Given the description of an element on the screen output the (x, y) to click on. 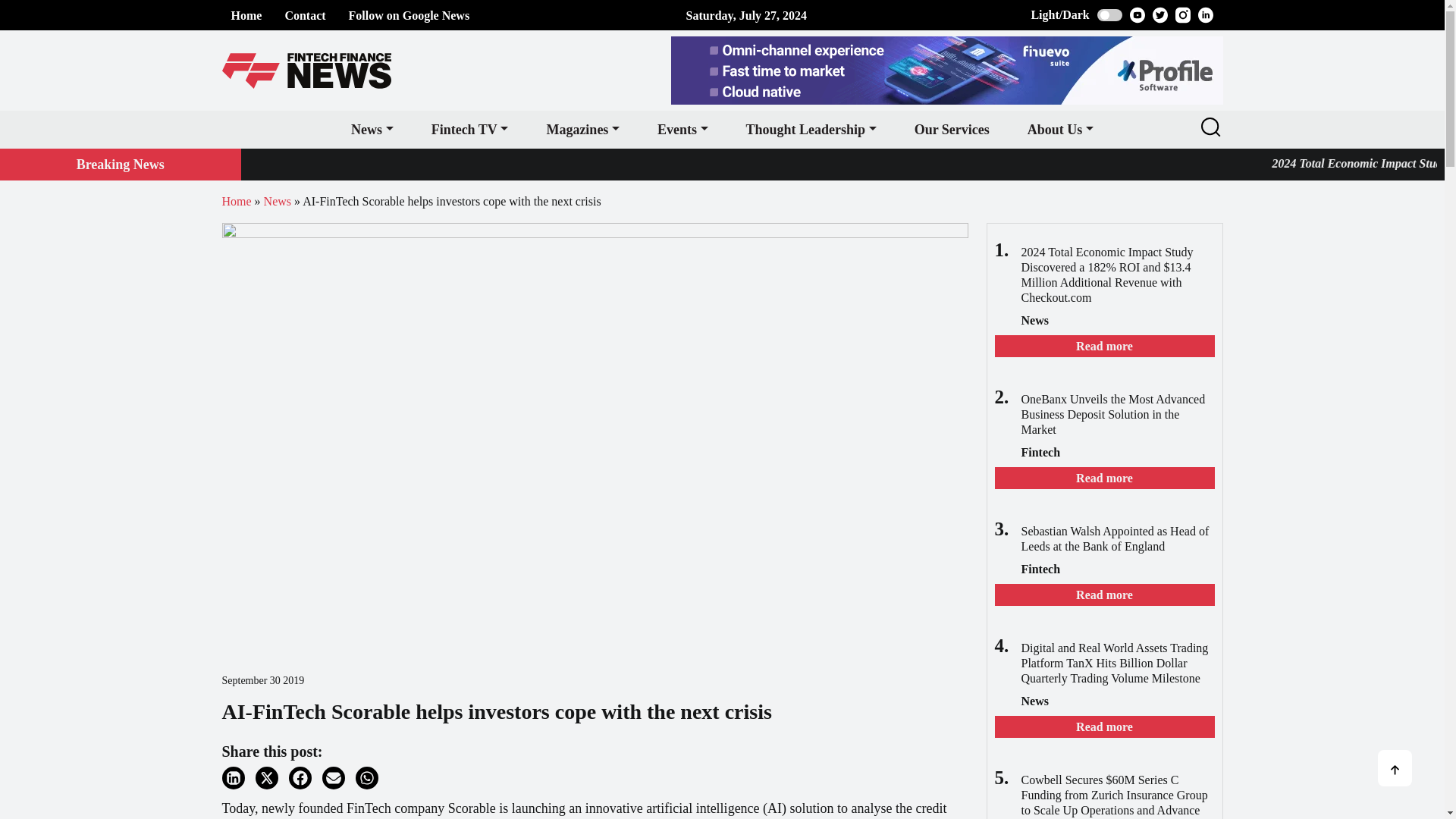
Home (246, 15)
Magazines (583, 129)
Contact (303, 15)
News (371, 129)
Follow on Google News (409, 15)
Fintech TV (469, 129)
Fintech TV (469, 129)
Events (682, 129)
